Given the description of an element on the screen output the (x, y) to click on. 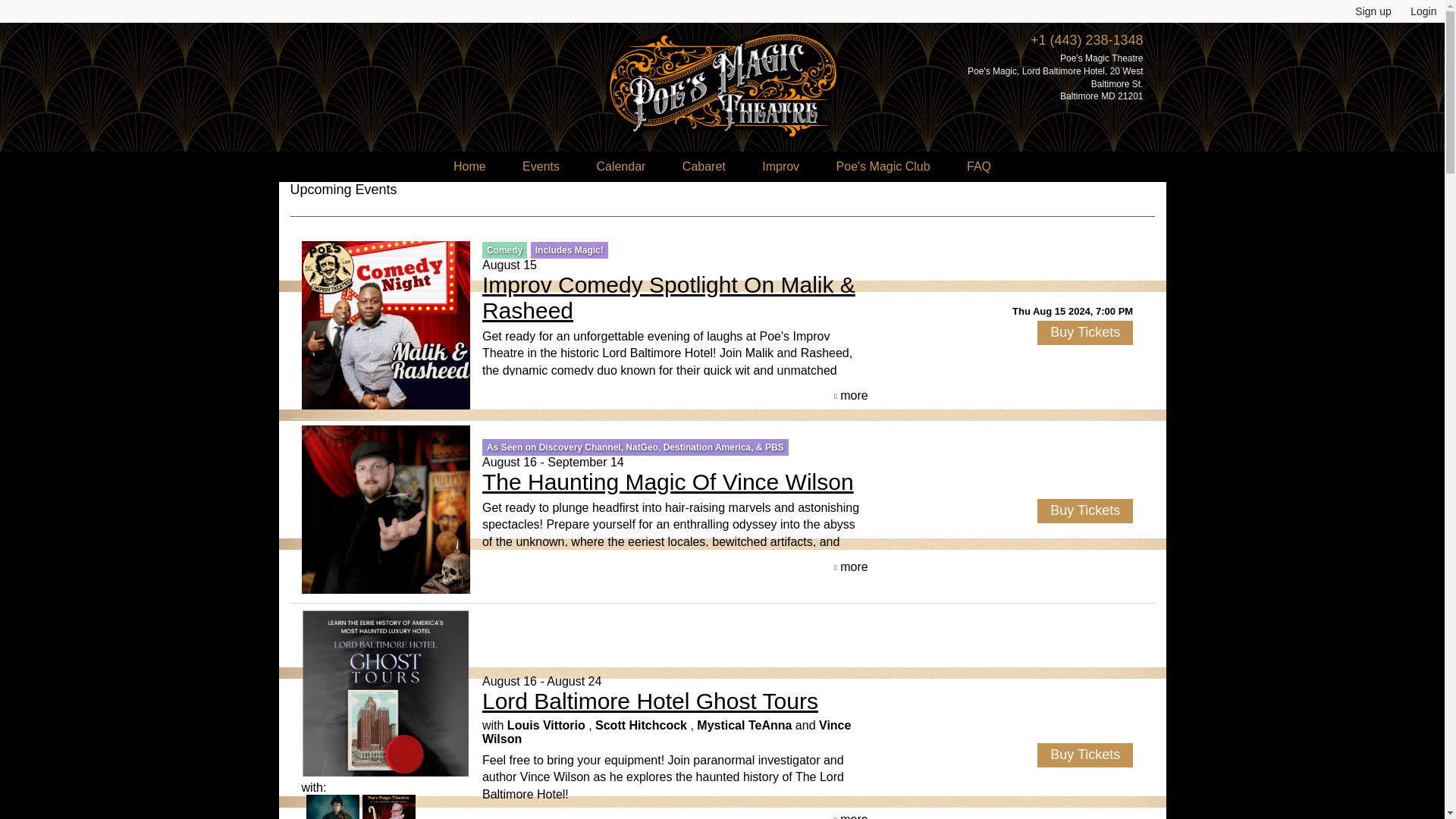
Buy Tickets (1084, 332)
Events (540, 166)
Sign up (1373, 10)
more (850, 567)
Calendar (620, 166)
more (850, 395)
Improv (780, 166)
Poe'S Magic Club (883, 166)
Cabaret (703, 166)
Home (469, 166)
